Given the description of an element on the screen output the (x, y) to click on. 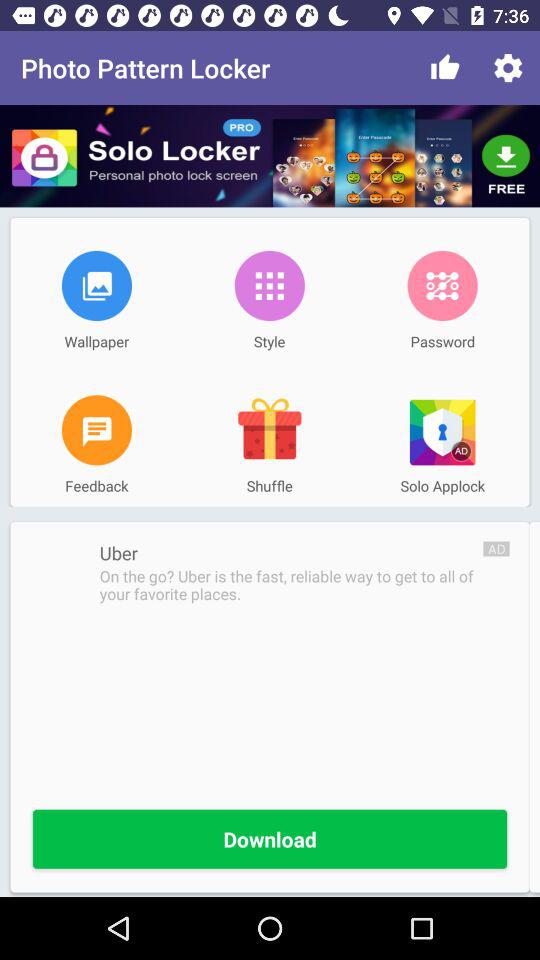
turn off item above the shuffle (269, 430)
